Given the description of an element on the screen output the (x, y) to click on. 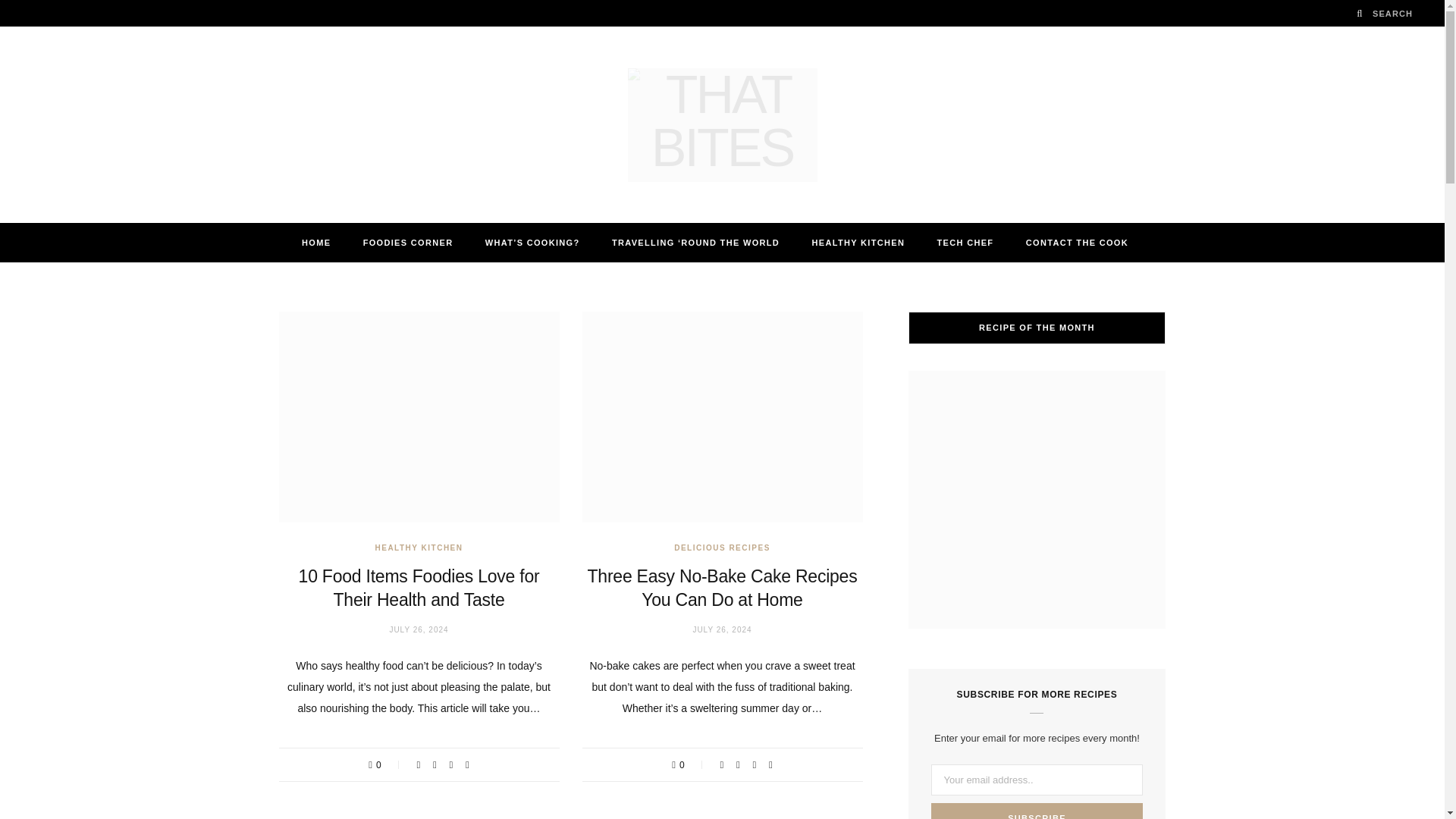
Subscribe (1036, 810)
0 (385, 764)
JULY 26, 2024 (418, 629)
Share on Twitter (434, 764)
TECH CHEF (966, 242)
Three Easy No-Bake Cake Recipes You Can Do at Home (722, 587)
10 Food Items Foodies Love for Their Health and Taste (419, 587)
Share on Facebook (721, 764)
HEALTHY KITCHEN (418, 546)
0 (688, 764)
Email (770, 764)
Pinterest (450, 764)
HEALTHY KITCHEN (857, 242)
JULY 26, 2024 (722, 629)
